Given the description of an element on the screen output the (x, y) to click on. 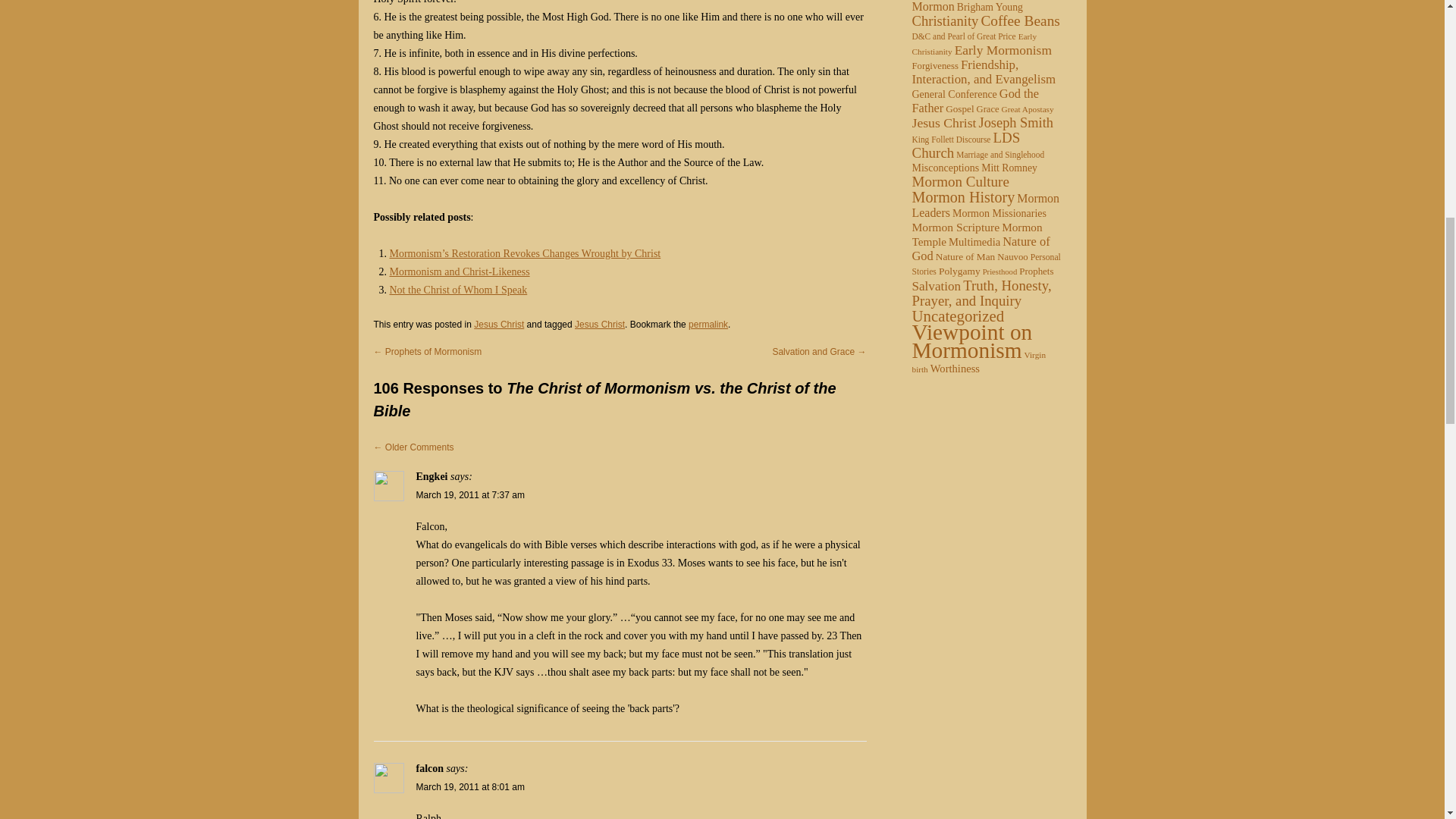
Not the Christ of Whom I Speak (458, 289)
permalink (708, 324)
Not the Christ of Whom I Speak (458, 289)
March 19, 2011 at 8:01 am (469, 787)
Mormonism and Christ-Likeness (459, 271)
Jesus Christ (599, 324)
March 19, 2011 at 7:37 am (469, 494)
Jesus Christ (499, 324)
Mormonism and Christ-Likeness (459, 271)
